Given the description of an element on the screen output the (x, y) to click on. 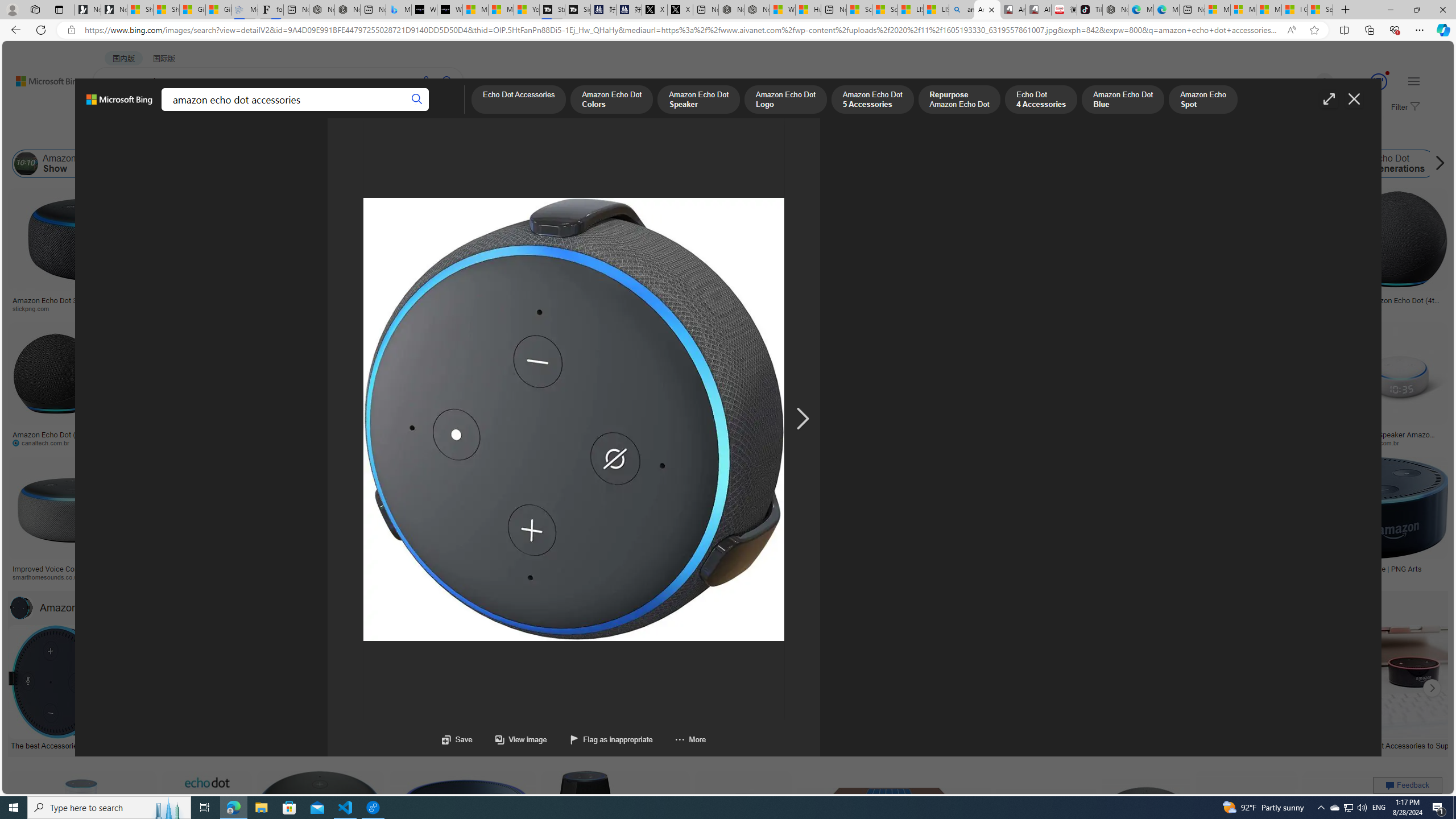
Amazon Echo Dot 4th Gen (565, 227)
Amazonecho Dot With Alexa (Gen 4) (1203, 568)
Alexa Echo Png Pic Png Arts Imagestpsearchtool.comSave (924, 252)
Improved Voice Control with Sonos & Alexa Echo devices (72, 572)
ACADEMIC (311, 111)
stickpng.herokuapp.com (350, 308)
amazon.com.mx (1034, 442)
Amazon Echo Spot (1130, 163)
